Given the description of an element on the screen output the (x, y) to click on. 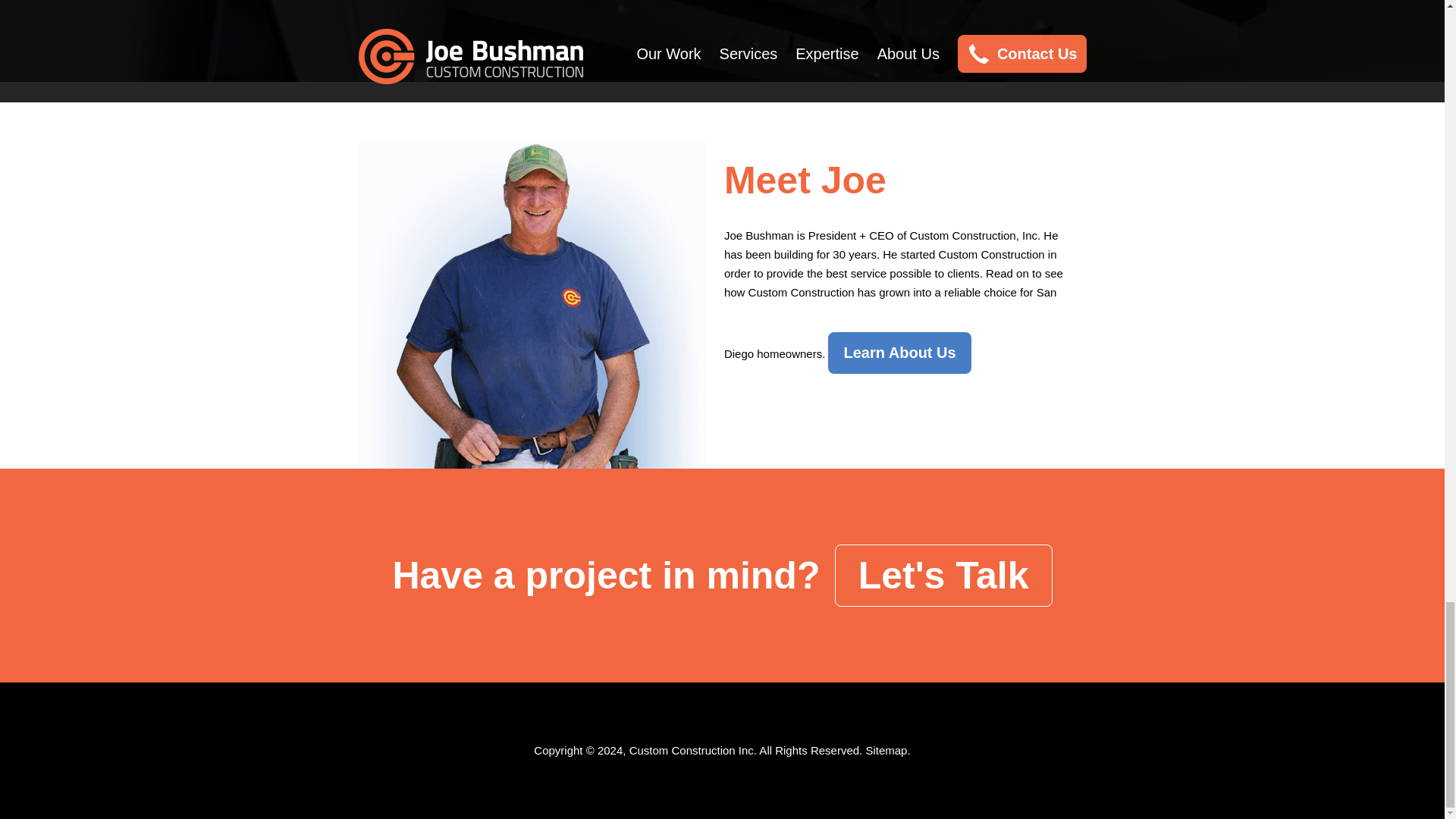
Let's Talk (943, 575)
Learn About Us (899, 352)
